Given the description of an element on the screen output the (x, y) to click on. 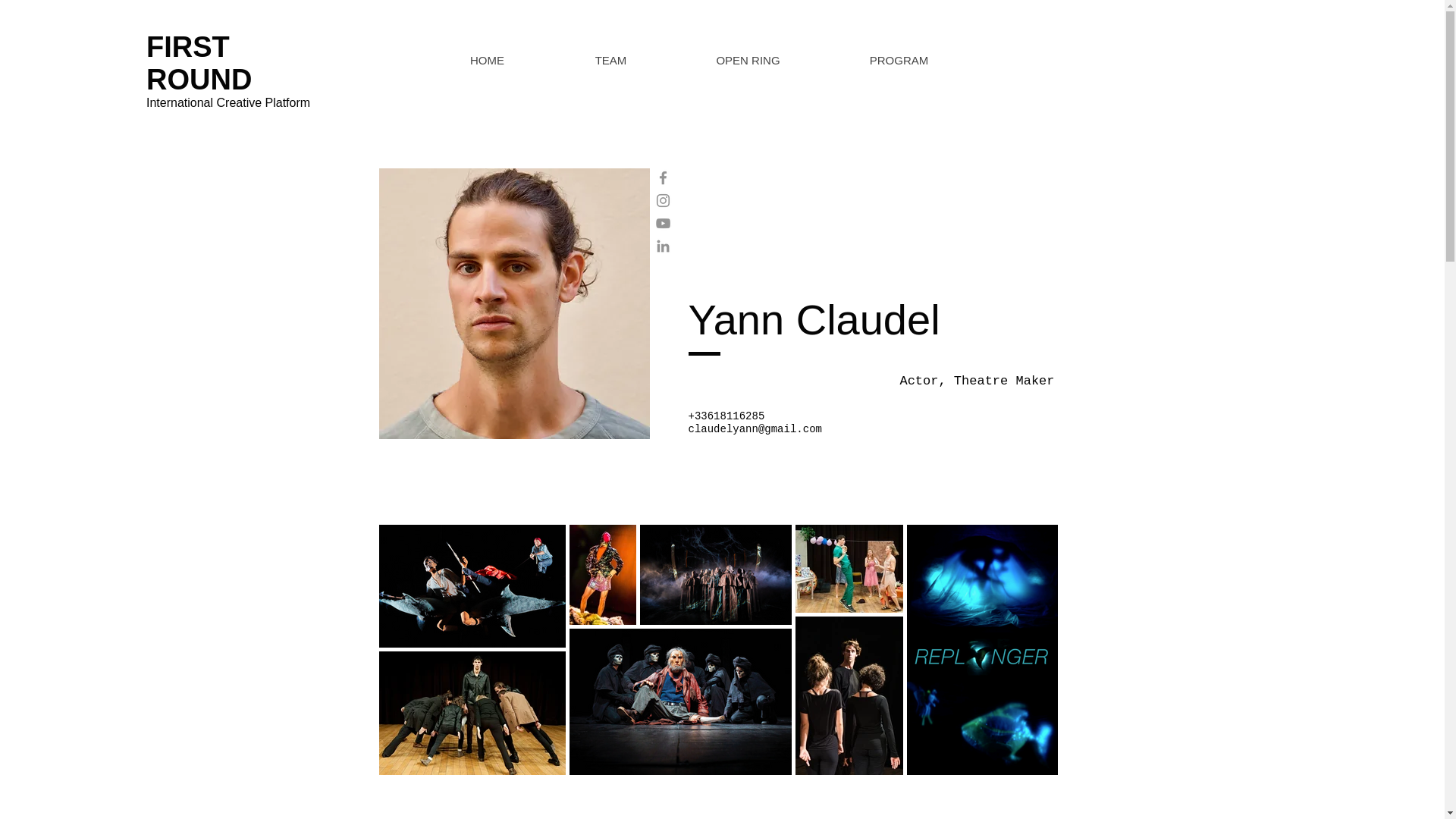
TEAM (610, 60)
OPEN RING (747, 60)
FIRST ROUND (199, 63)
HOME (487, 60)
PROGRAM (898, 60)
